Given the description of an element on the screen output the (x, y) to click on. 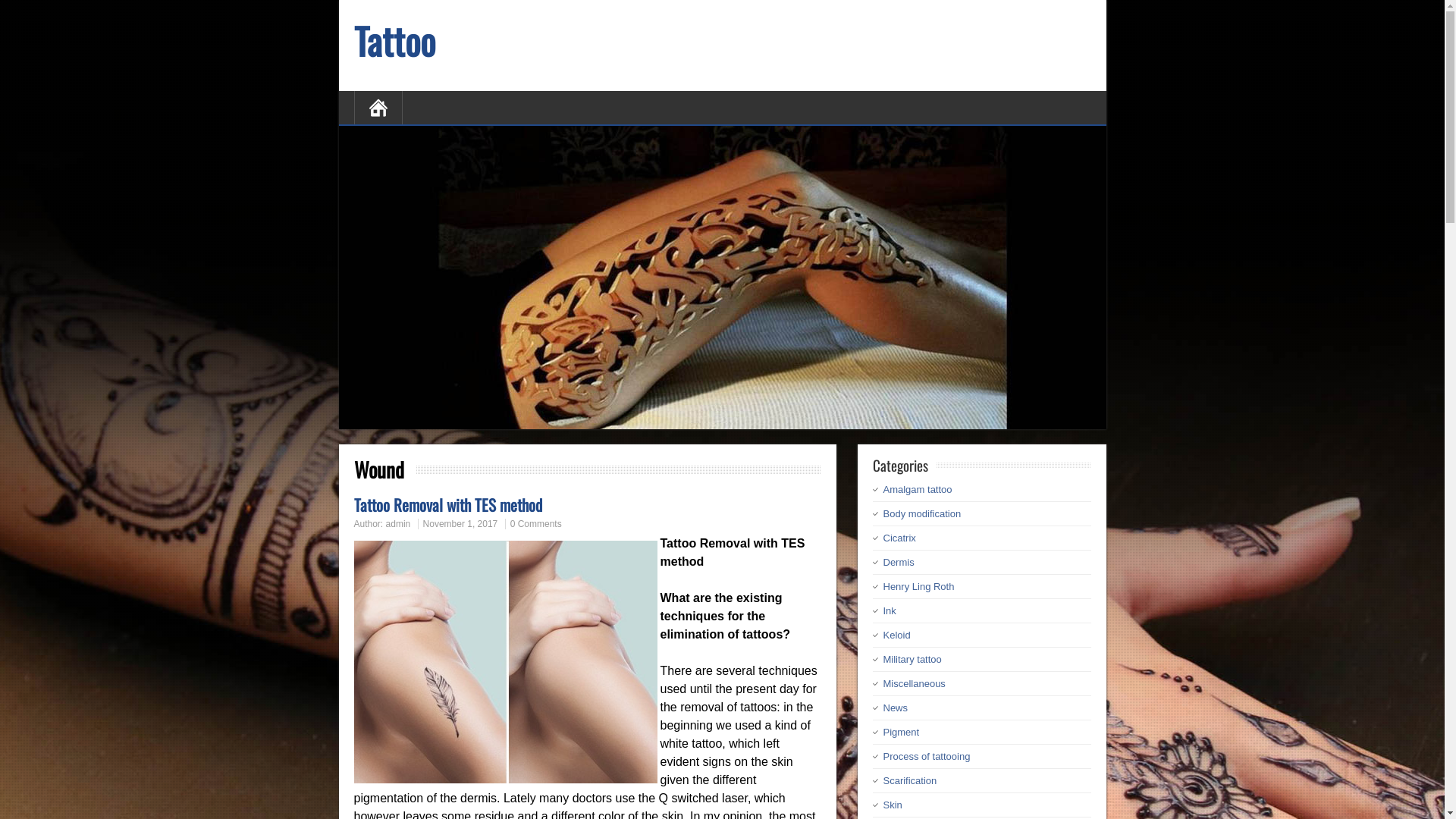
Tattoo Element type: text (393, 40)
November 1, 2017 Element type: text (460, 523)
Military tattoo Element type: text (911, 659)
Scarification Element type: text (909, 780)
Pigment Element type: text (900, 731)
admin Element type: text (398, 523)
Tattoo Removal with TES method Element type: text (447, 504)
Cicatrix Element type: text (898, 537)
Skin Element type: text (891, 804)
Amalgam tattoo Element type: text (916, 489)
Keloid Element type: text (896, 634)
Ink Element type: text (888, 610)
Henry Ling Roth Element type: text (917, 586)
0 Comments Element type: text (535, 523)
Body modification Element type: text (921, 513)
Process of tattooing Element type: text (925, 756)
News Element type: text (894, 707)
Miscellaneous Element type: text (913, 683)
Dermis Element type: text (897, 561)
